Given the description of an element on the screen output the (x, y) to click on. 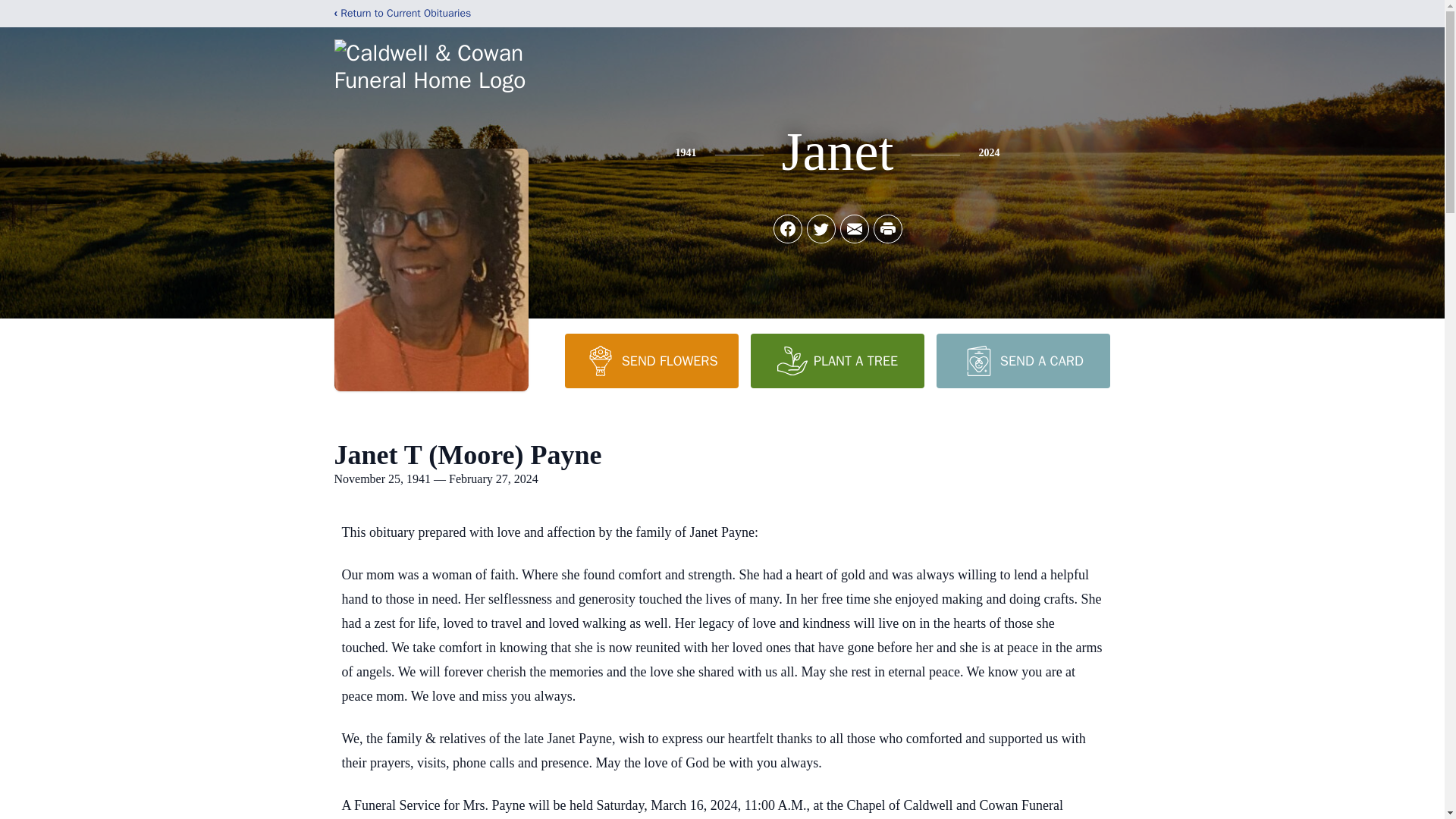
SEND A CARD (1022, 360)
PLANT A TREE (837, 360)
SEND FLOWERS (651, 360)
